Given the description of an element on the screen output the (x, y) to click on. 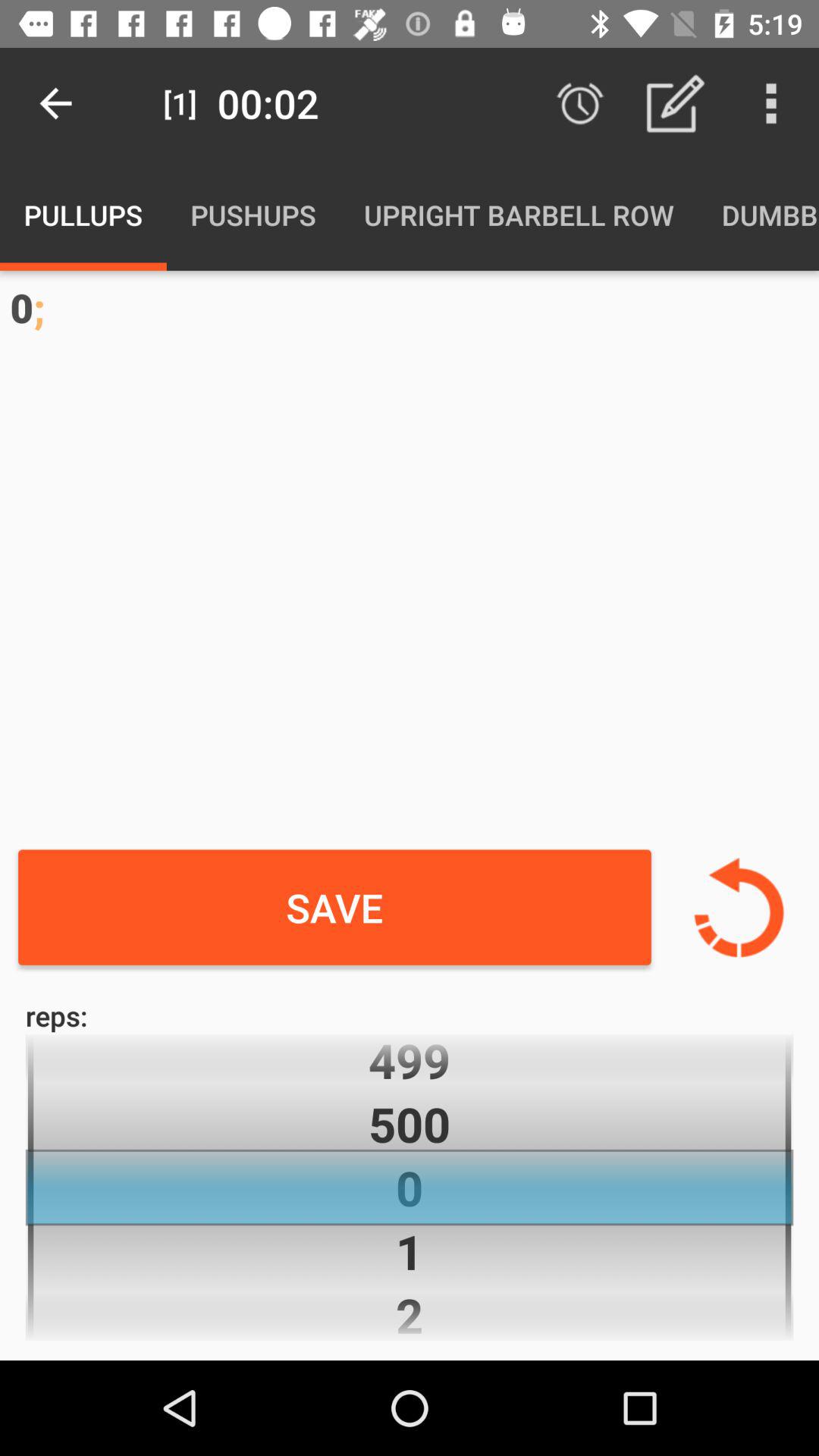
return to previous data (738, 907)
